Given the description of an element on the screen output the (x, y) to click on. 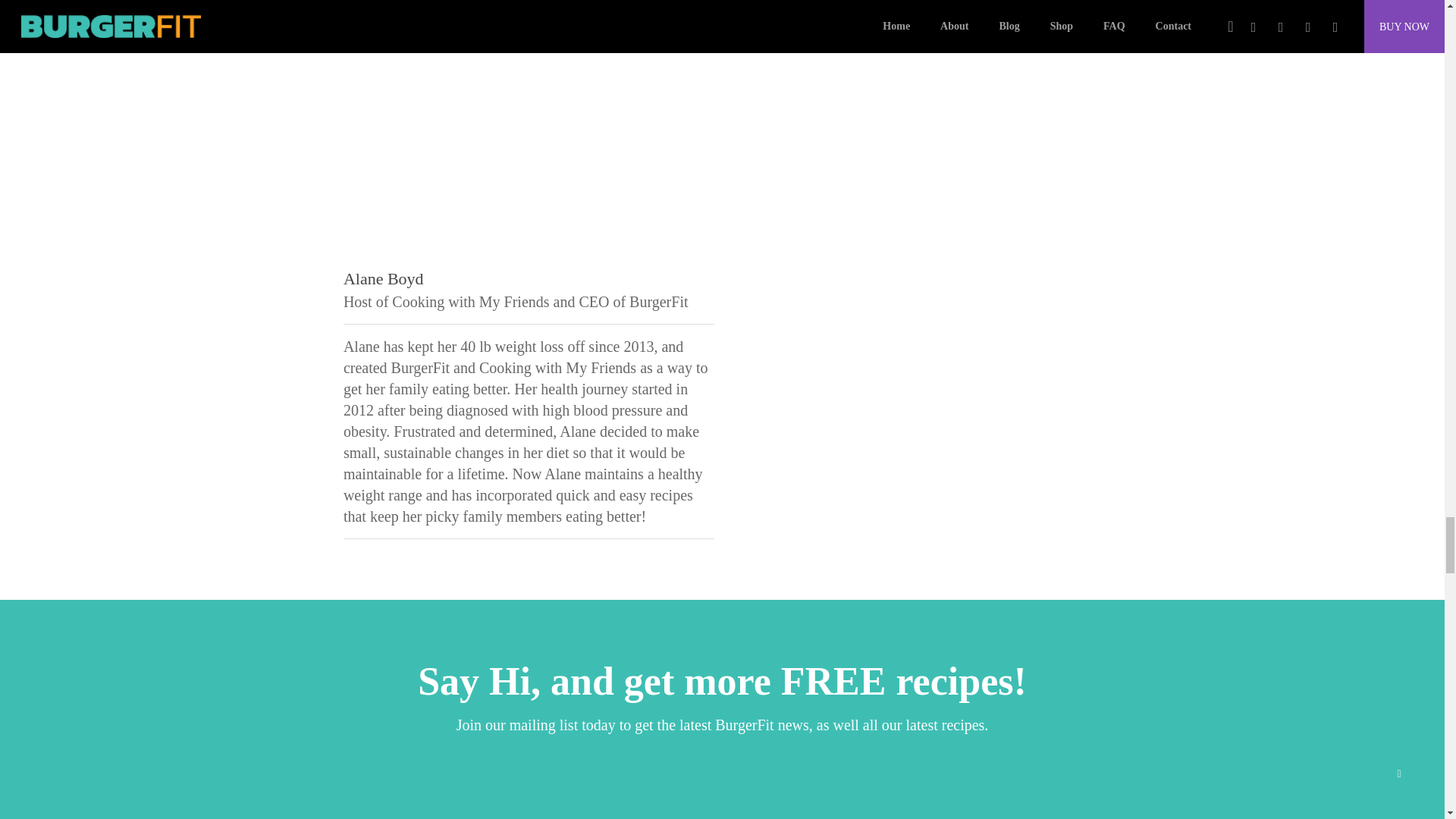
Alane Boyd (528, 131)
